Given the description of an element on the screen output the (x, y) to click on. 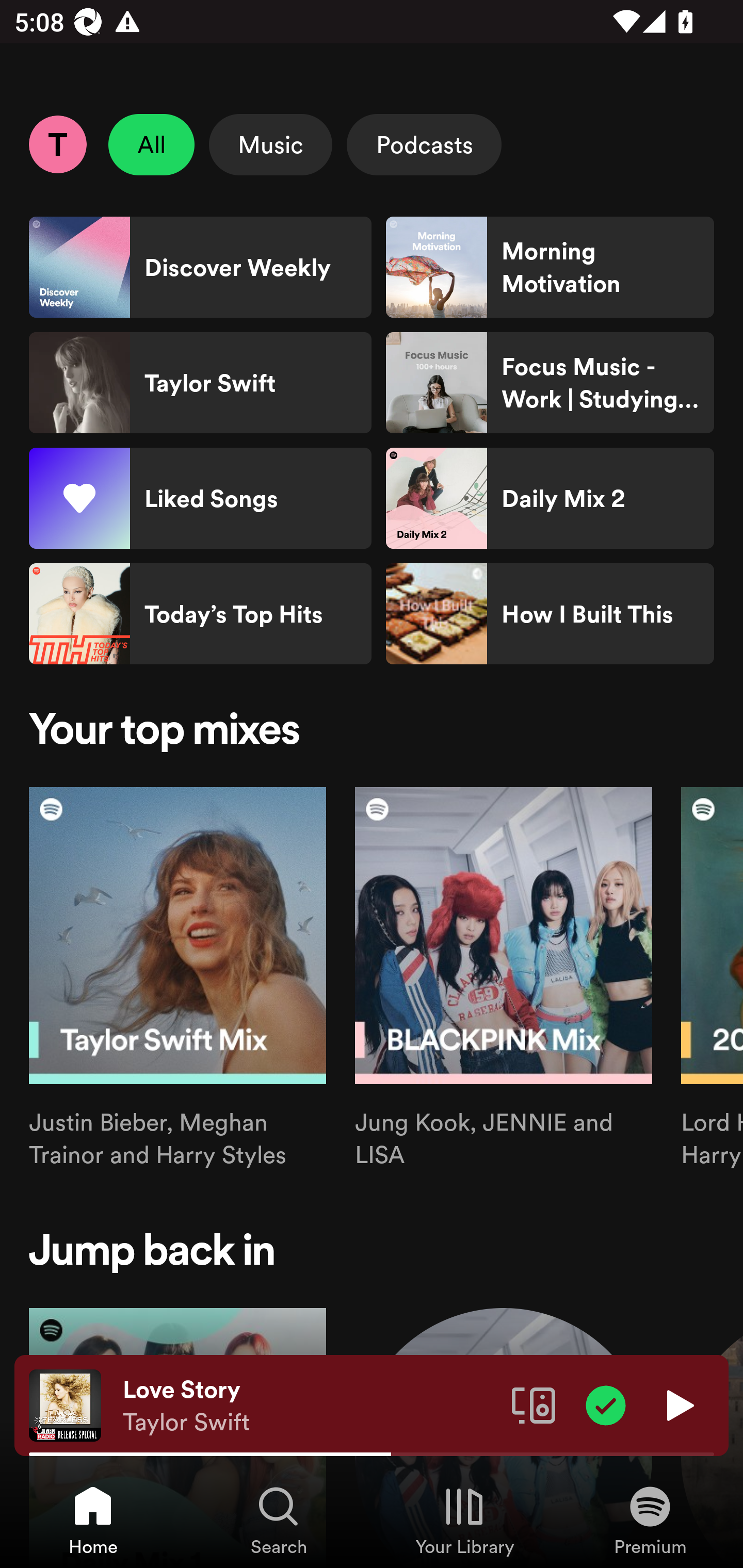
Profile (57, 144)
All Unselect All (151, 144)
Music Select Music (270, 144)
Podcasts Select Podcasts (423, 144)
Discover Weekly Shortcut Discover Weekly (199, 267)
Morning Motivation Shortcut Morning Motivation (549, 267)
Taylor Swift Shortcut Taylor Swift (199, 382)
Liked Songs Shortcut Liked Songs (199, 498)
Daily Mix 2 Shortcut Daily Mix 2 (549, 498)
Today’s Top Hits Shortcut Today’s Top Hits (199, 613)
How I Built This  Shortcut How I Built This  (549, 613)
Love Story Taylor Swift (309, 1405)
The cover art of the currently playing track (64, 1404)
Connect to a device. Opens the devices menu (533, 1404)
Item added (605, 1404)
Play (677, 1404)
Home, Tab 1 of 4 Home Home (92, 1519)
Search, Tab 2 of 4 Search Search (278, 1519)
Your Library, Tab 3 of 4 Your Library Your Library (464, 1519)
Premium, Tab 4 of 4 Premium Premium (650, 1519)
